Given the description of an element on the screen output the (x, y) to click on. 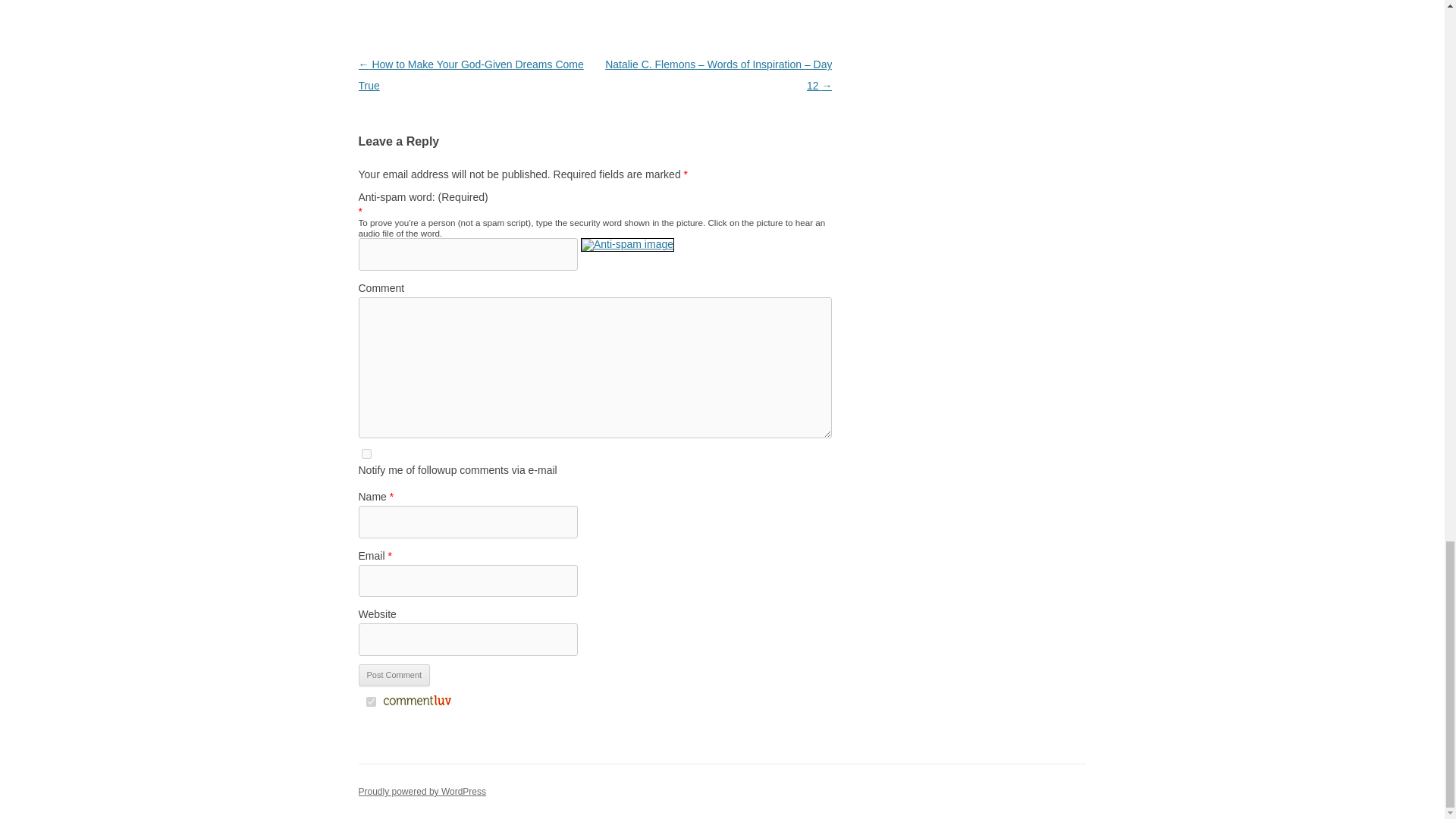
Semantic Personal Publishing Platform (422, 791)
Post Comment (393, 675)
CommentLuv is enabled (416, 702)
Proudly powered by WordPress (422, 791)
subscribe (366, 453)
on (370, 701)
Click to hear an audio file of the anti-spam word (627, 253)
Post Comment (393, 675)
